Given the description of an element on the screen output the (x, y) to click on. 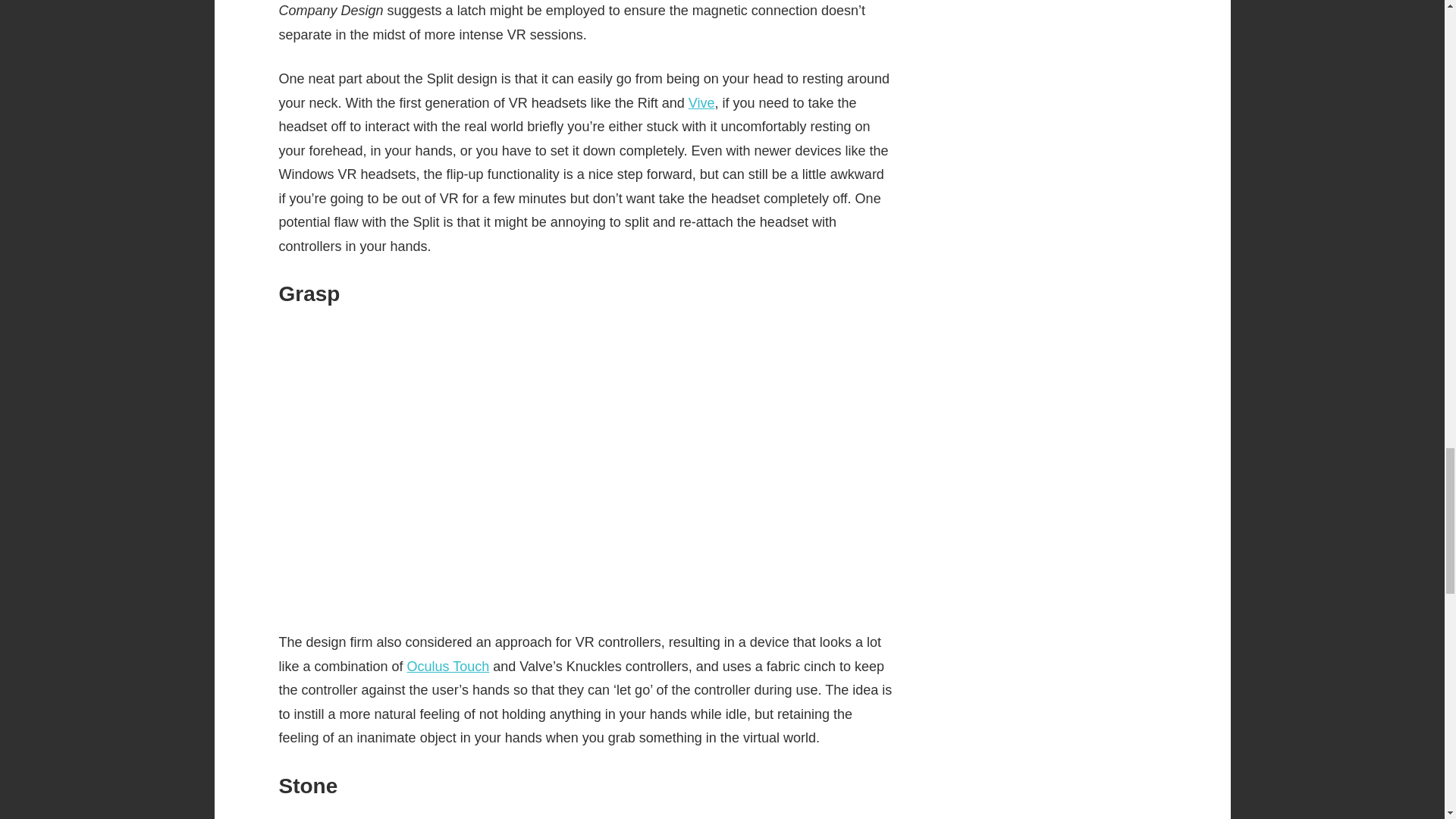
Vive (701, 102)
Oculus Touch (448, 666)
